Given the description of an element on the screen output the (x, y) to click on. 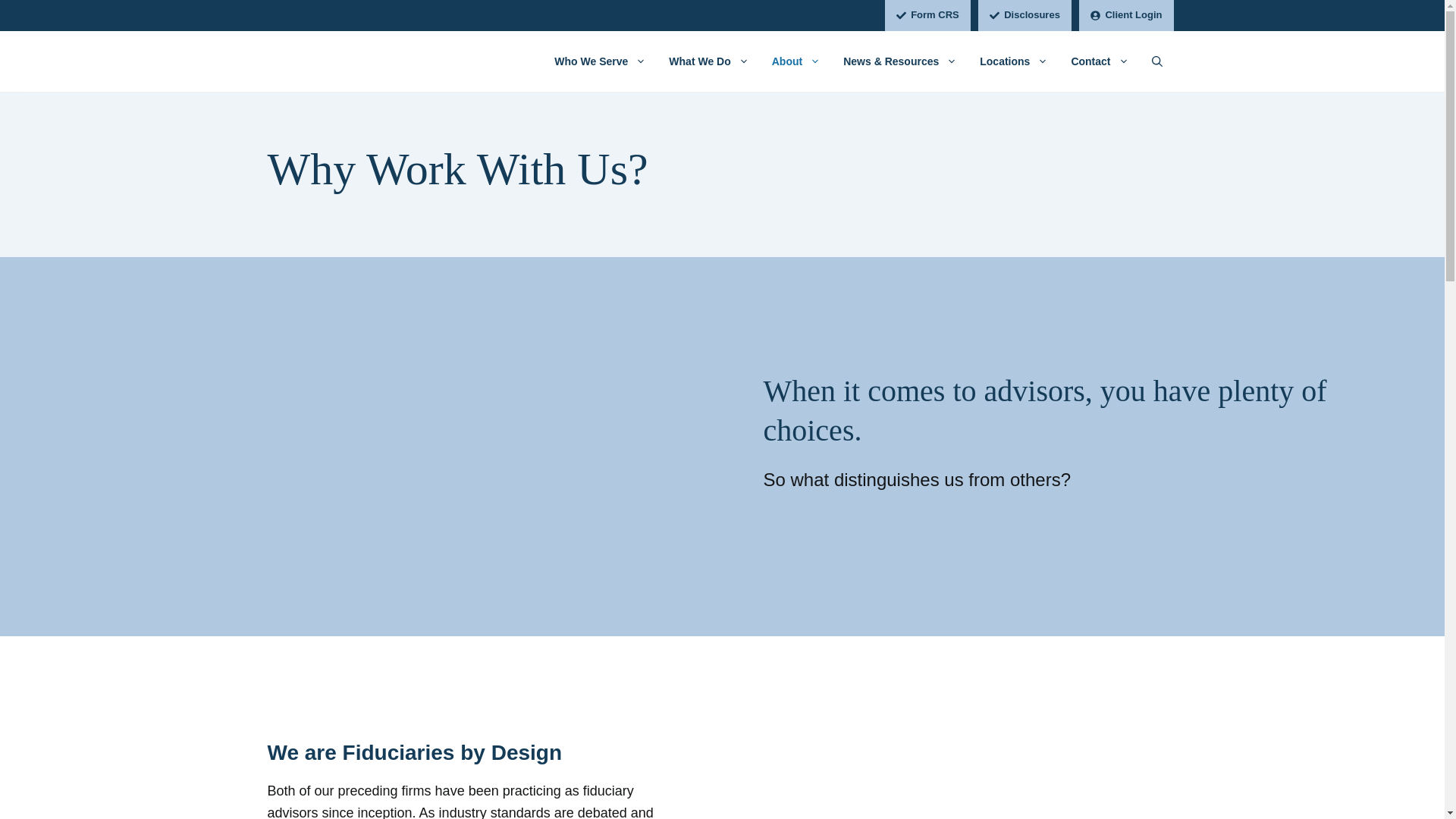
What We Do (709, 60)
About (795, 60)
Who We Serve (600, 60)
Form CRS (928, 15)
Advisor in Office (949, 748)
Disclosures (1024, 15)
Client Login (1125, 15)
